Given the description of an element on the screen output the (x, y) to click on. 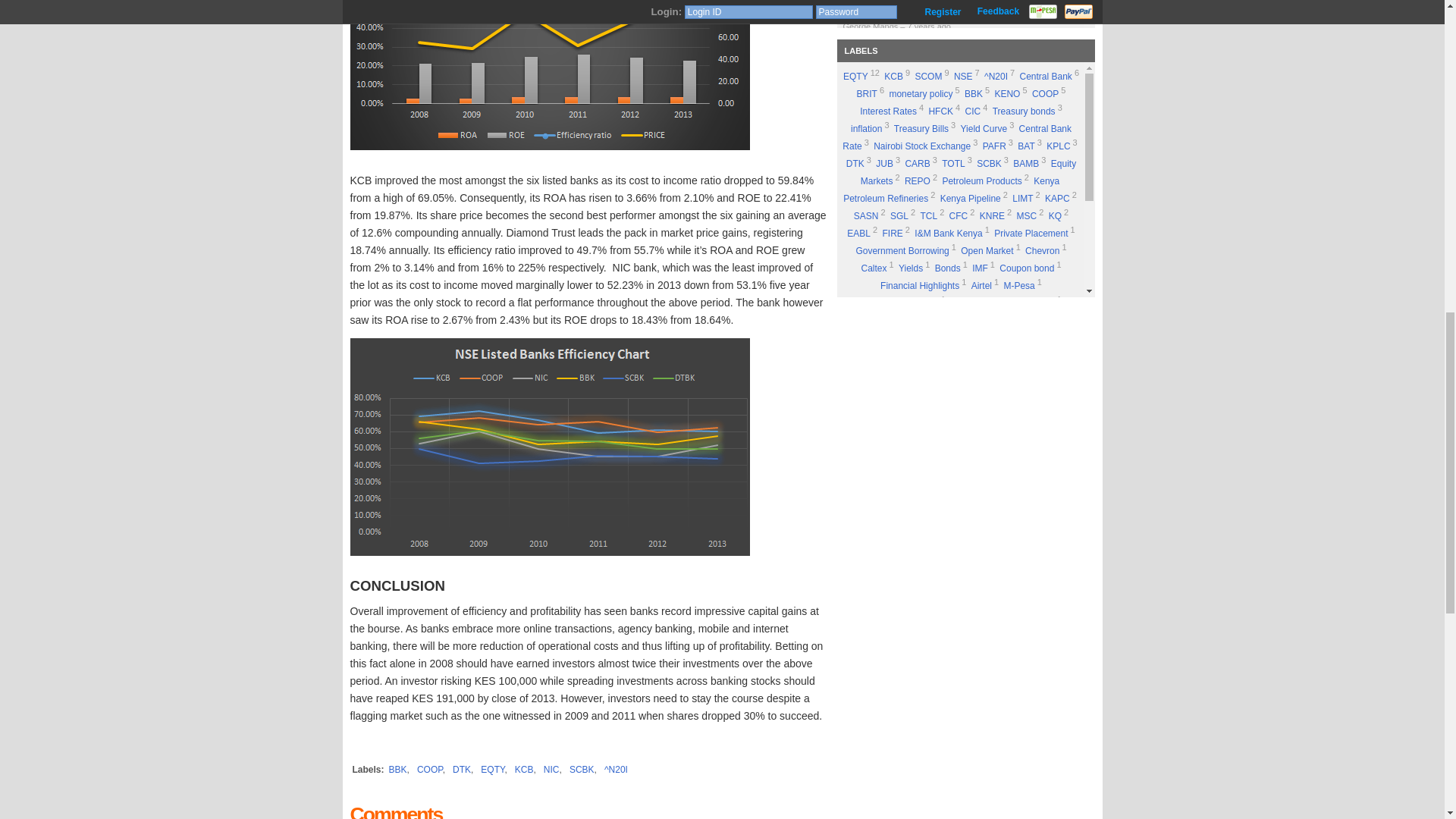
Fri Feb 05 2016 12:57:12 PM (962, 97)
Fri Jan 29 2016 11:22:37 AM (954, 133)
Mon Mar 06 2017 6:18:00 PM (928, 26)
Fri Jan 08 2016 3:08:44 PM (932, 168)
Fri Feb 05 2016 3:12:34 PM (954, 61)
